Given the description of an element on the screen output the (x, y) to click on. 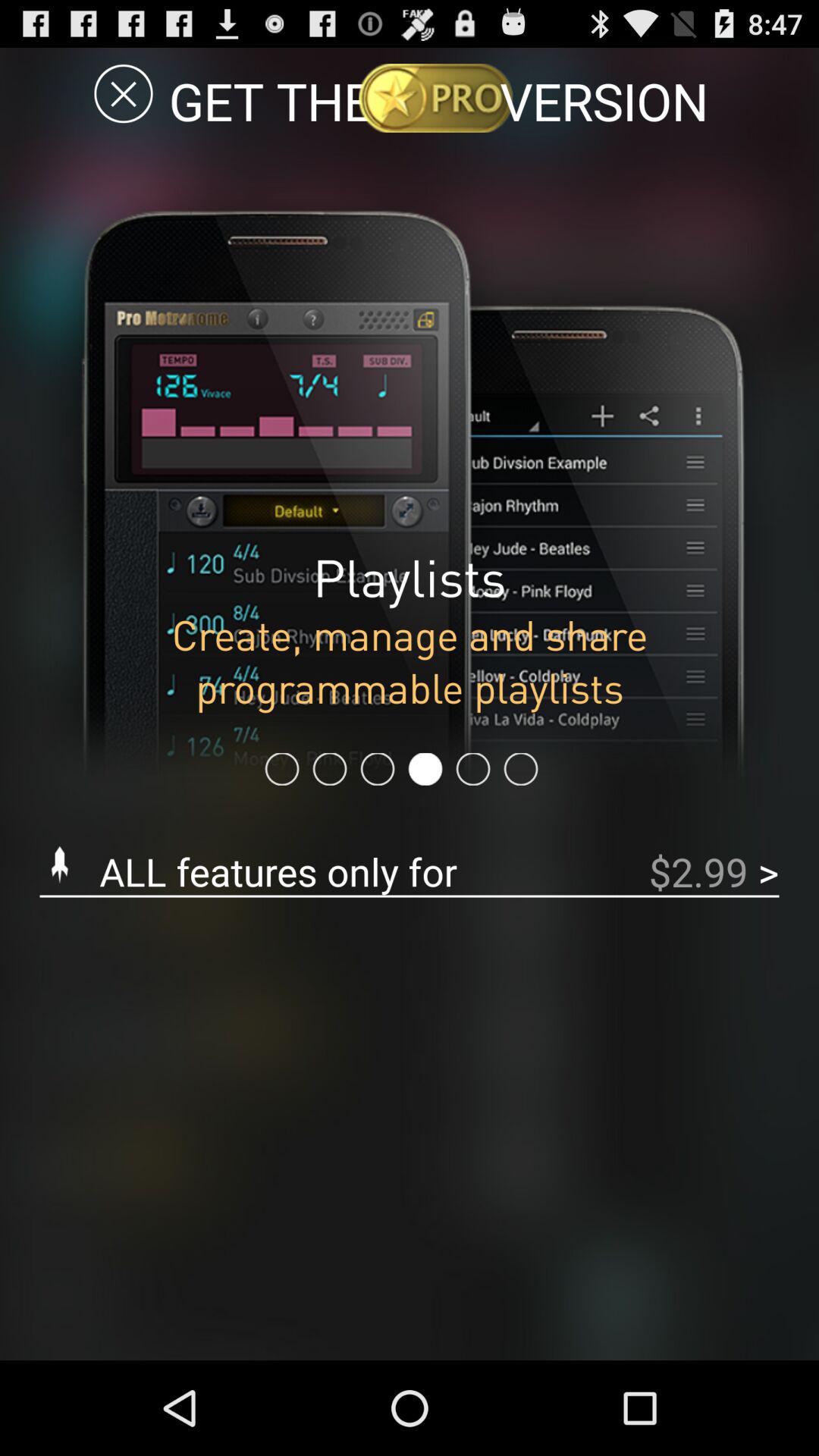
press the item to the left of get the (123, 93)
